Given the description of an element on the screen output the (x, y) to click on. 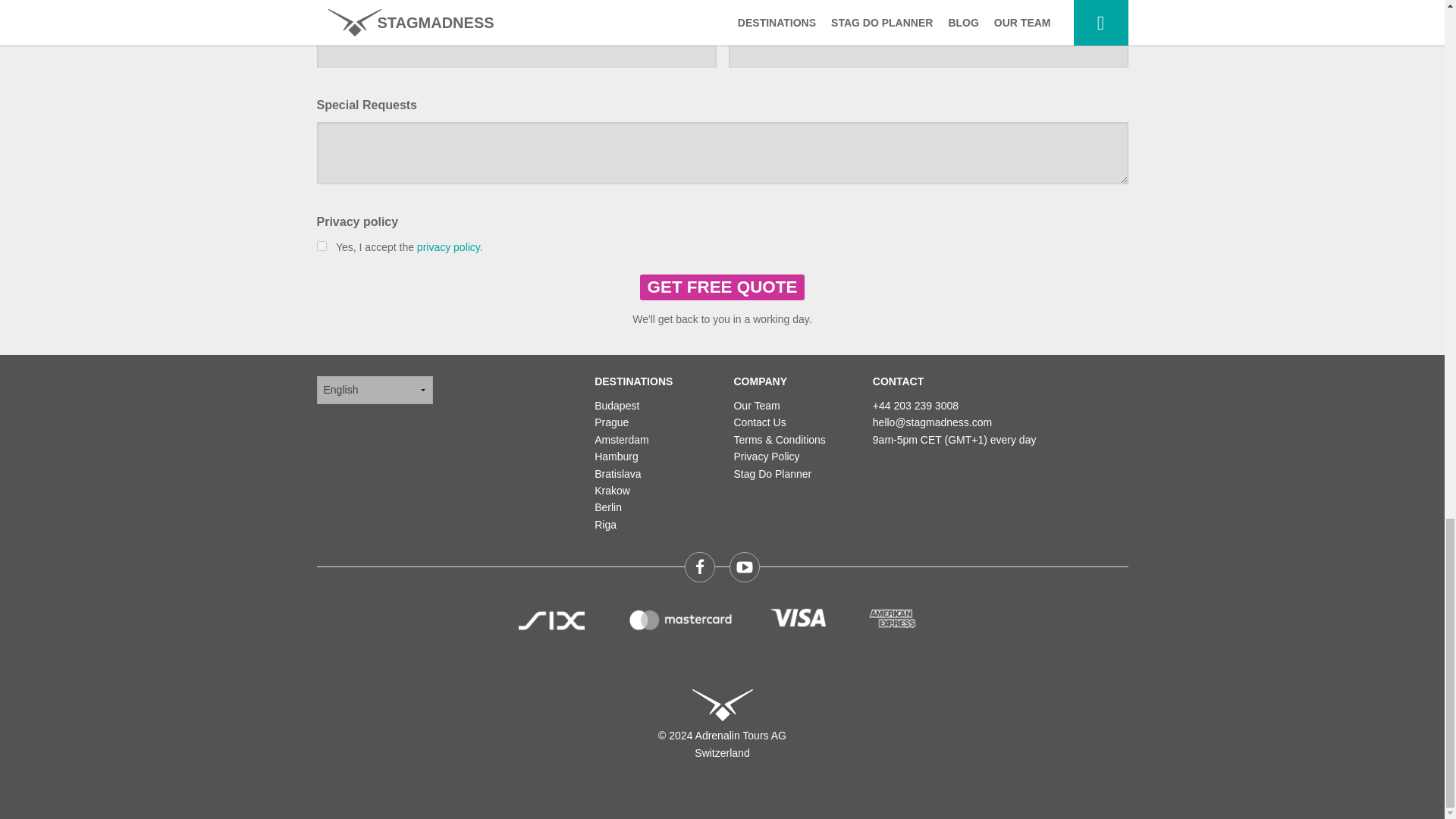
Our stag do organizer team in  (755, 405)
privacy policy (448, 246)
GET FREE QUOTE (722, 287)
Prague (611, 422)
Amsterdam (621, 439)
1 (321, 245)
Budapest (616, 405)
